Given the description of an element on the screen output the (x, y) to click on. 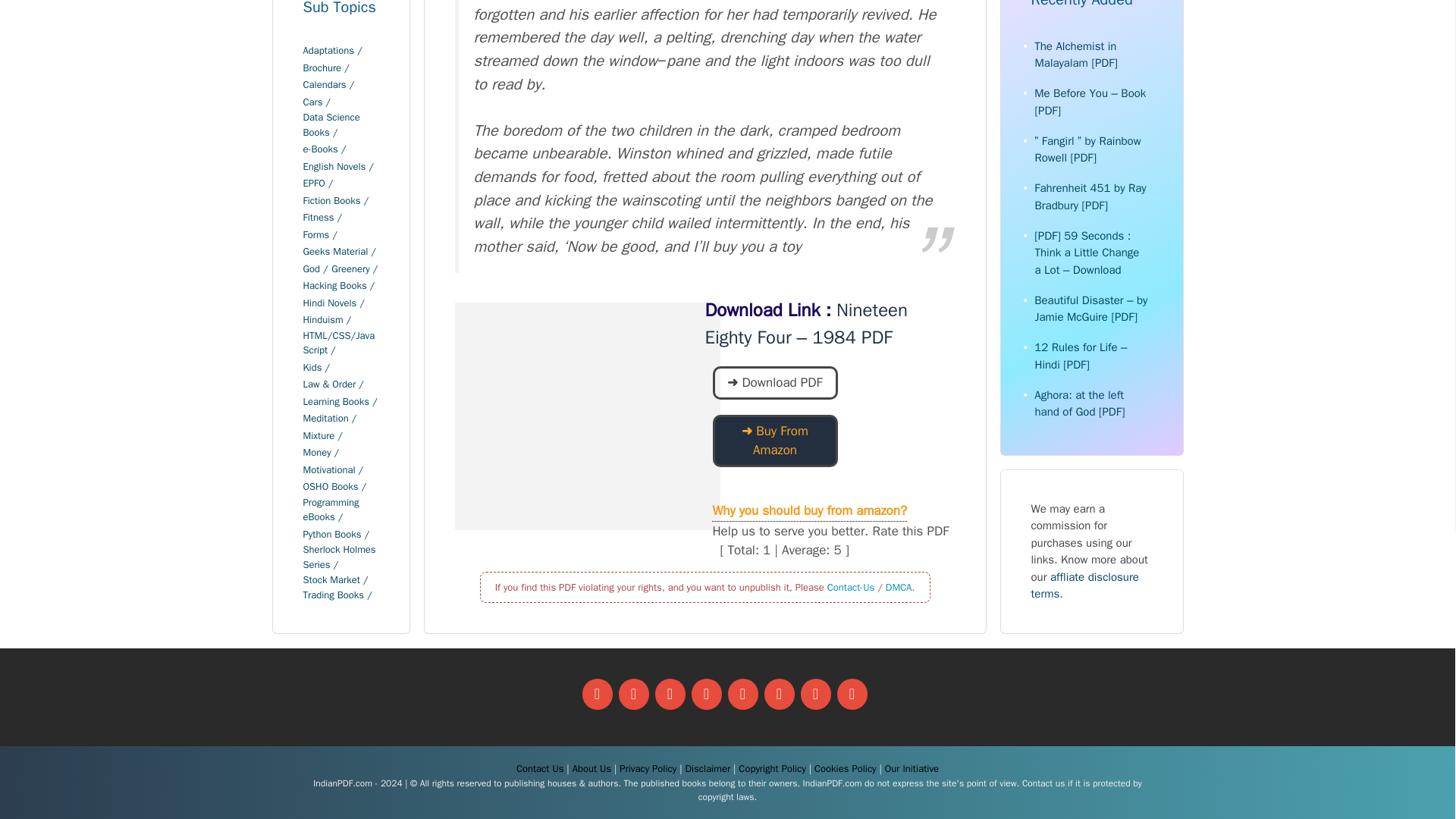
Download PDF (771, 382)
Download PDF (775, 382)
Contact-Us (851, 585)
DMCA (898, 585)
Buy From Amazon (775, 440)
Buy From Amazon (771, 449)
